Given the description of an element on the screen output the (x, y) to click on. 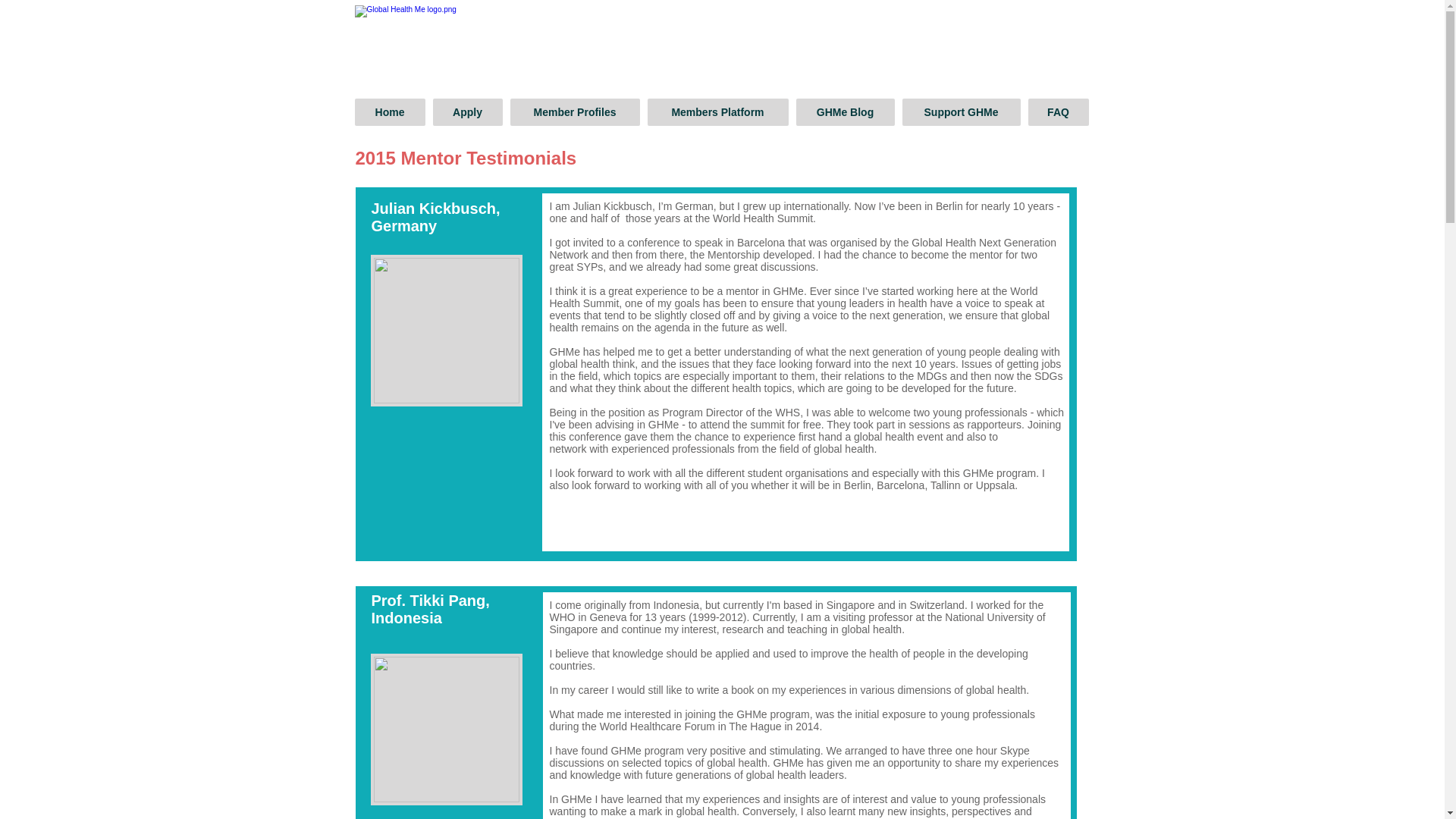
GHMe Blog (845, 112)
Home (390, 112)
Site Search (994, 41)
FAQ (1058, 112)
Photo2012Aug.JPG (445, 729)
Member Profiles (574, 112)
Members Platform (718, 112)
Support GHMe (961, 112)
